Given the description of an element on the screen output the (x, y) to click on. 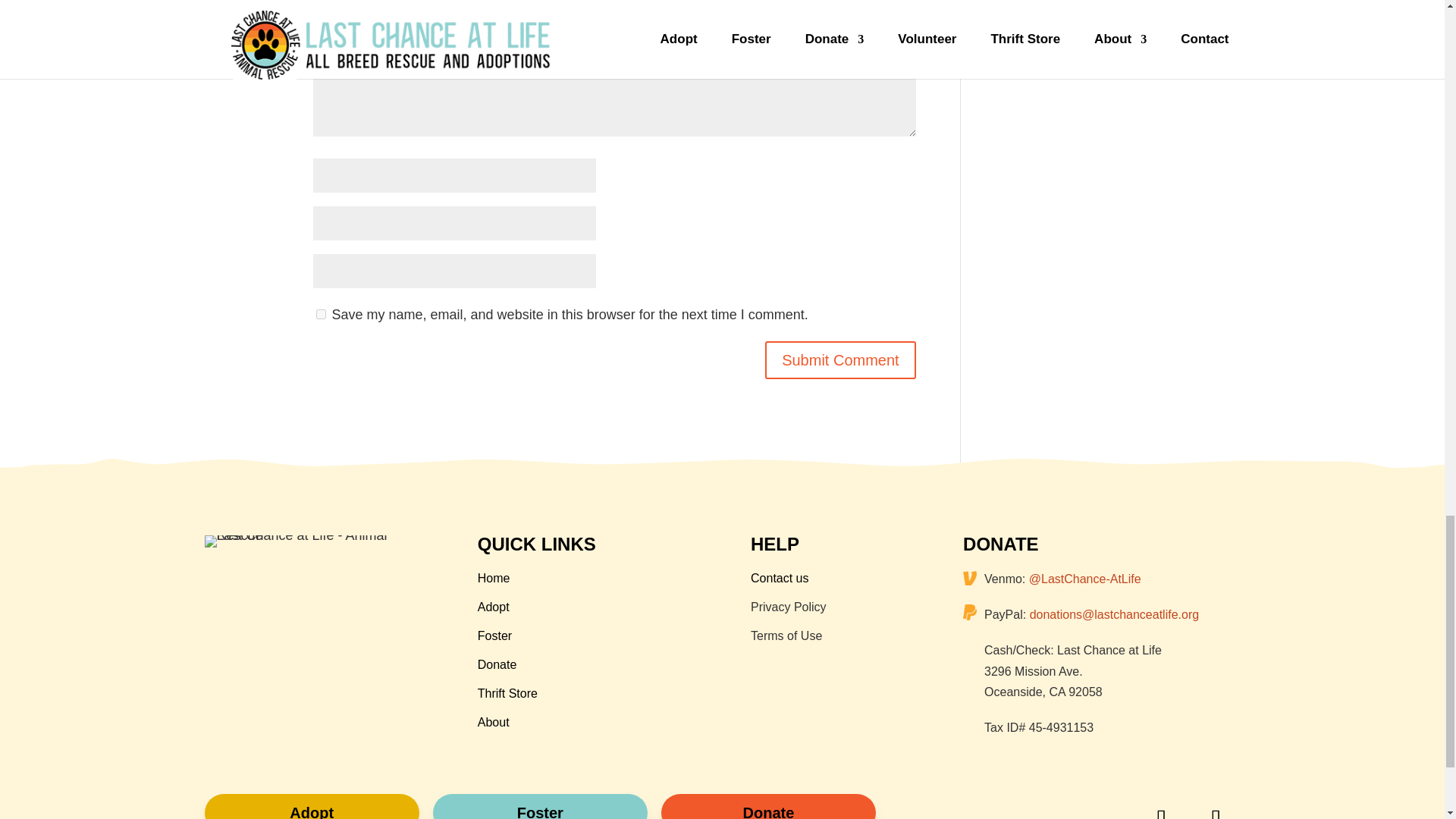
Contact us (779, 577)
Follow on Facebook (1161, 806)
Home (494, 577)
Foster (494, 635)
Submit Comment (840, 360)
LCAL logo (301, 541)
yes (319, 314)
Adopt (493, 606)
Adopt (312, 806)
About (493, 721)
